Given the description of an element on the screen output the (x, y) to click on. 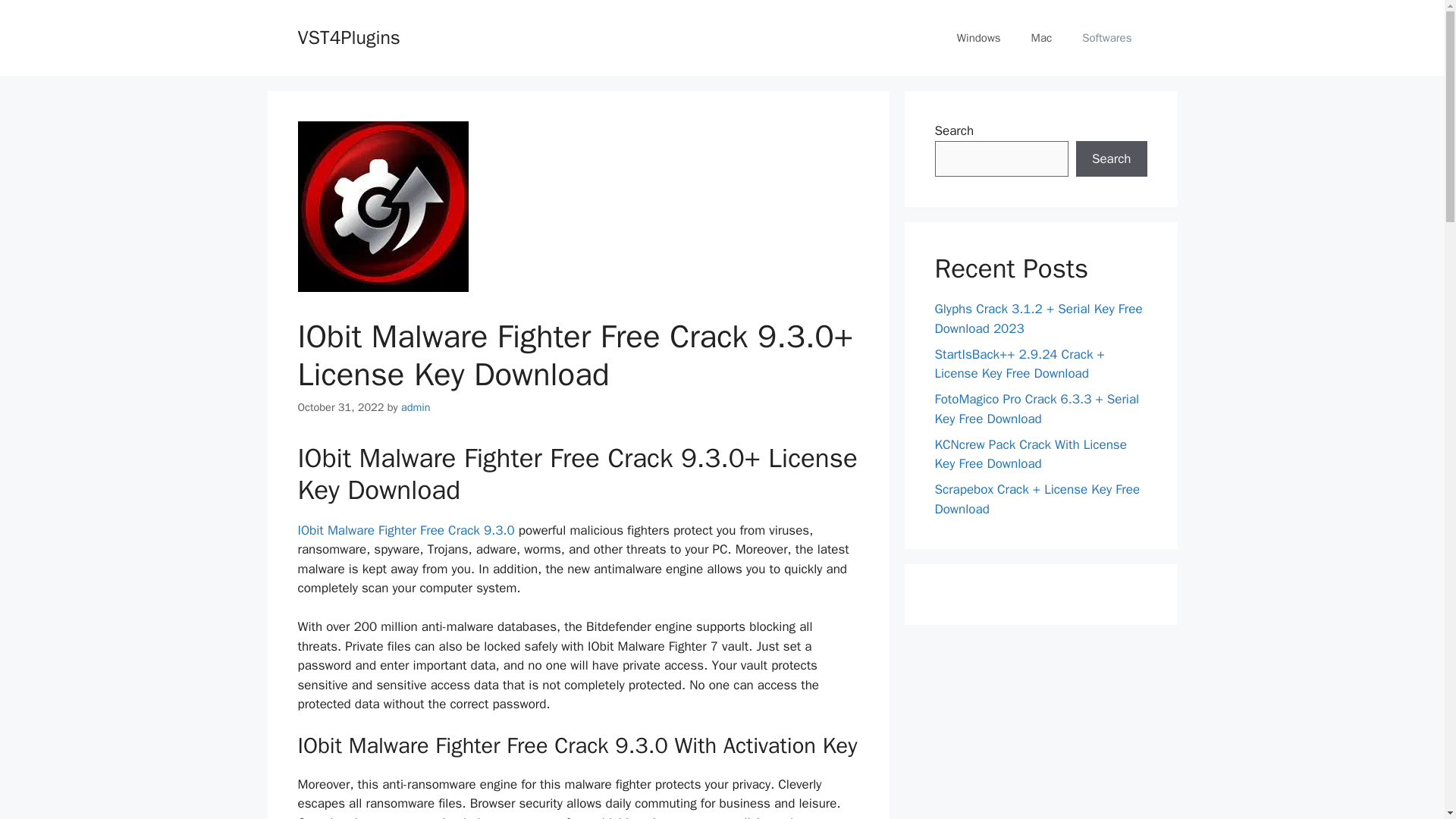
Mac (1041, 37)
KCNcrew Pack Crack With License Key Free Download (1029, 454)
Softwares (1107, 37)
Search (1111, 158)
Windows (979, 37)
IObit Malware Fighter Free Crack 9.3.0  (407, 530)
VST4Plugins (347, 37)
View all posts by admin (415, 407)
admin (415, 407)
